Given the description of an element on the screen output the (x, y) to click on. 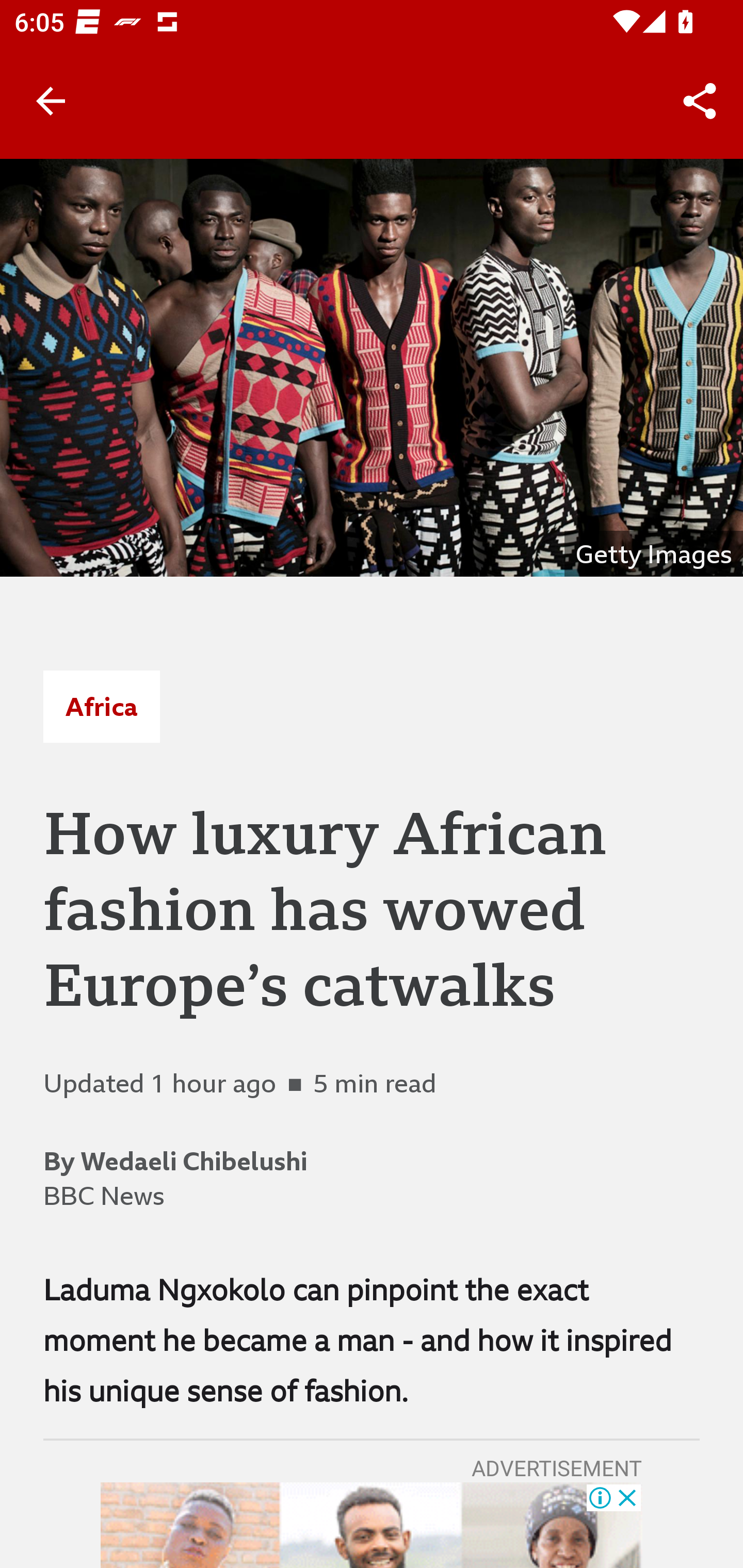
Back (50, 101)
Share (699, 101)
Africa (101, 706)
